Given the description of an element on the screen output the (x, y) to click on. 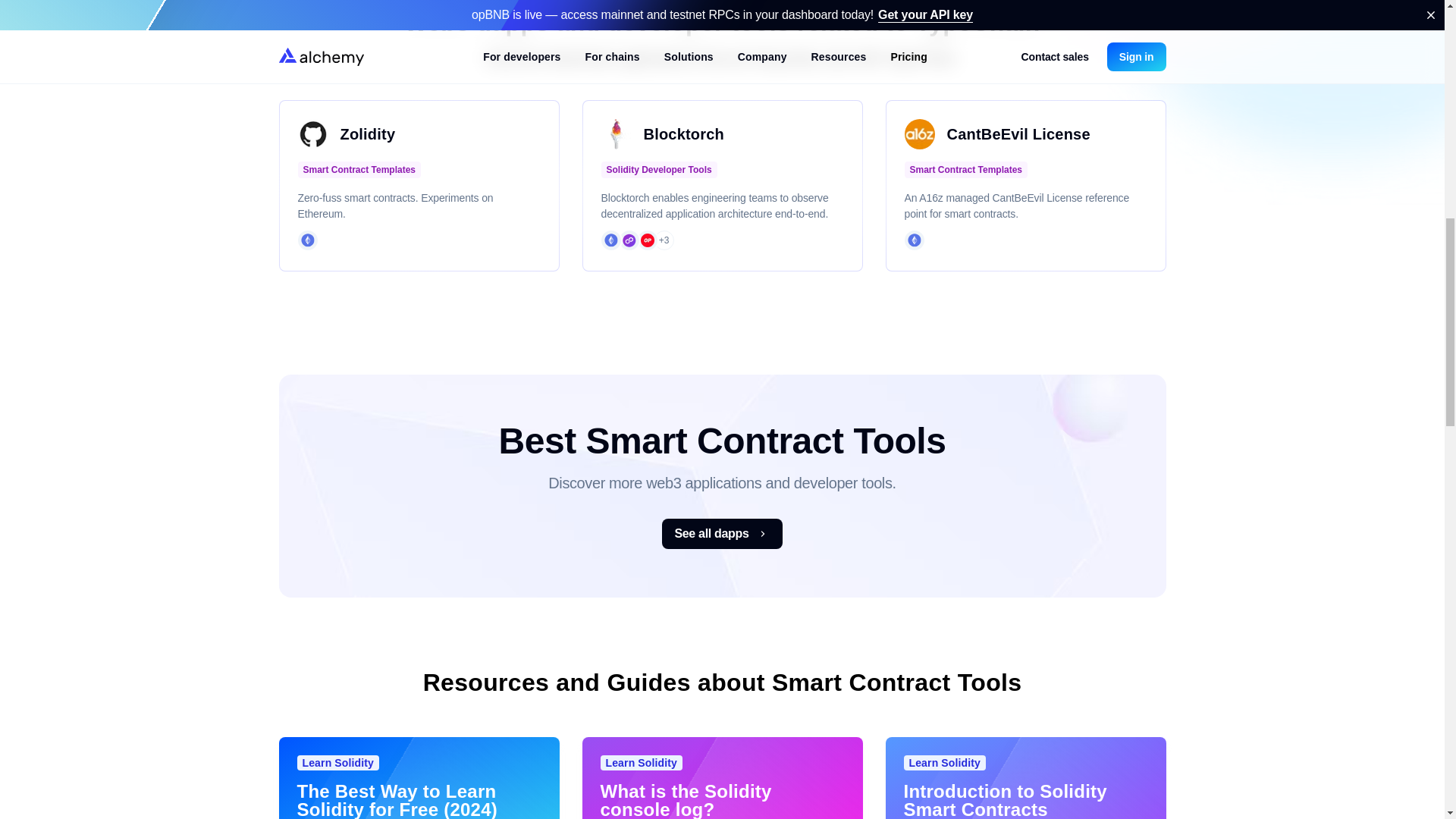
Ethereum (913, 240)
Optimism (646, 240)
Ethereum (306, 240)
Polygon (627, 240)
Ethereum (610, 240)
